Given the description of an element on the screen output the (x, y) to click on. 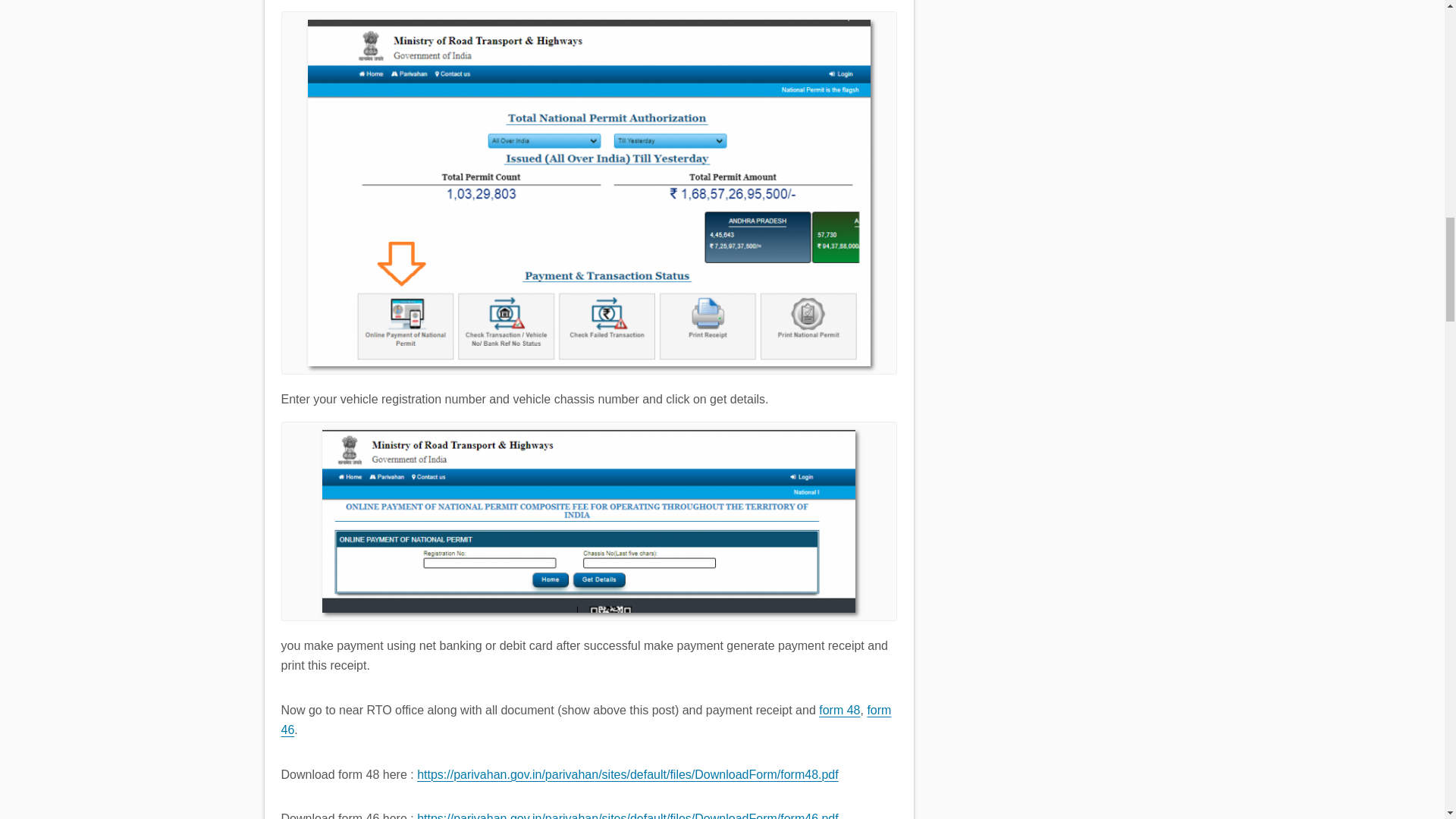
form 48 (839, 709)
form 46 (586, 719)
